Given the description of an element on the screen output the (x, y) to click on. 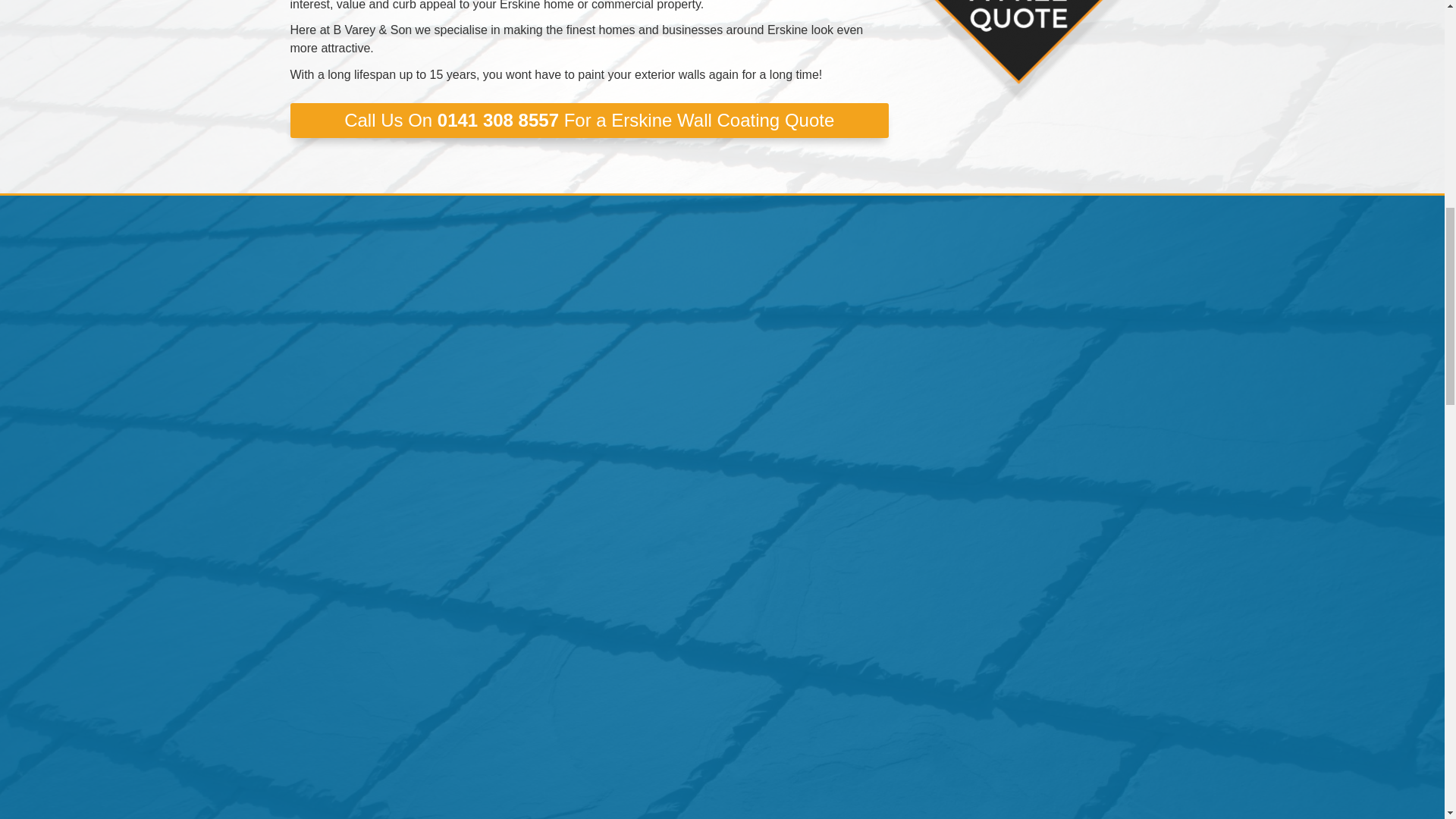
Call Us On 0141 308 8557 For a Erskine Wall Coating Quote (588, 120)
